Given the description of an element on the screen output the (x, y) to click on. 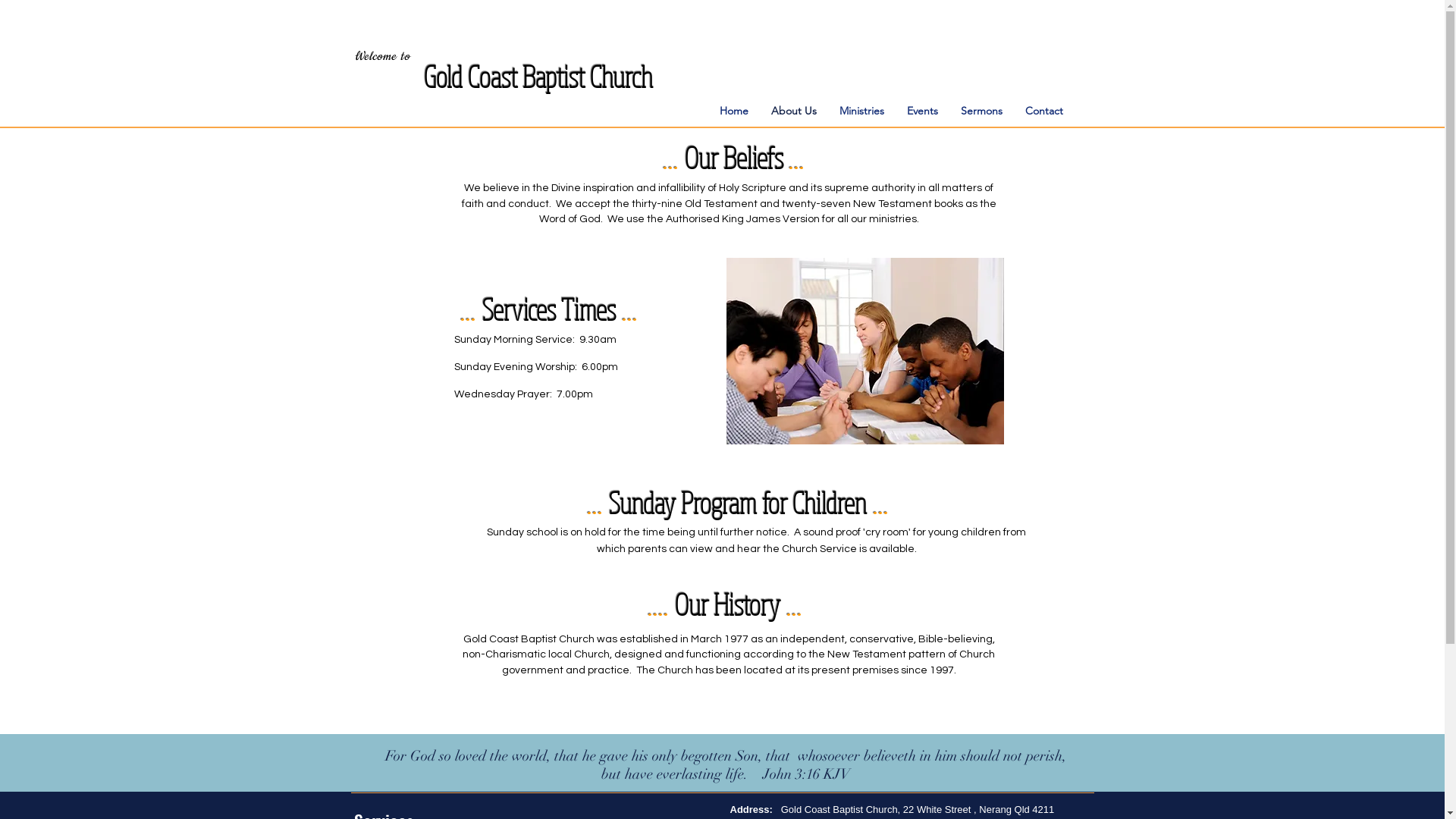
Sermons Element type: text (981, 111)
Contact Element type: text (1043, 111)
About Us Element type: text (793, 111)
Home Element type: text (733, 111)
Ministries Element type: text (861, 111)
Gold Coast Baptist Church, 22 White Street , Nerang Qld 4211 Element type: text (917, 809)
Events Element type: text (921, 111)
